Given the description of an element on the screen output the (x, y) to click on. 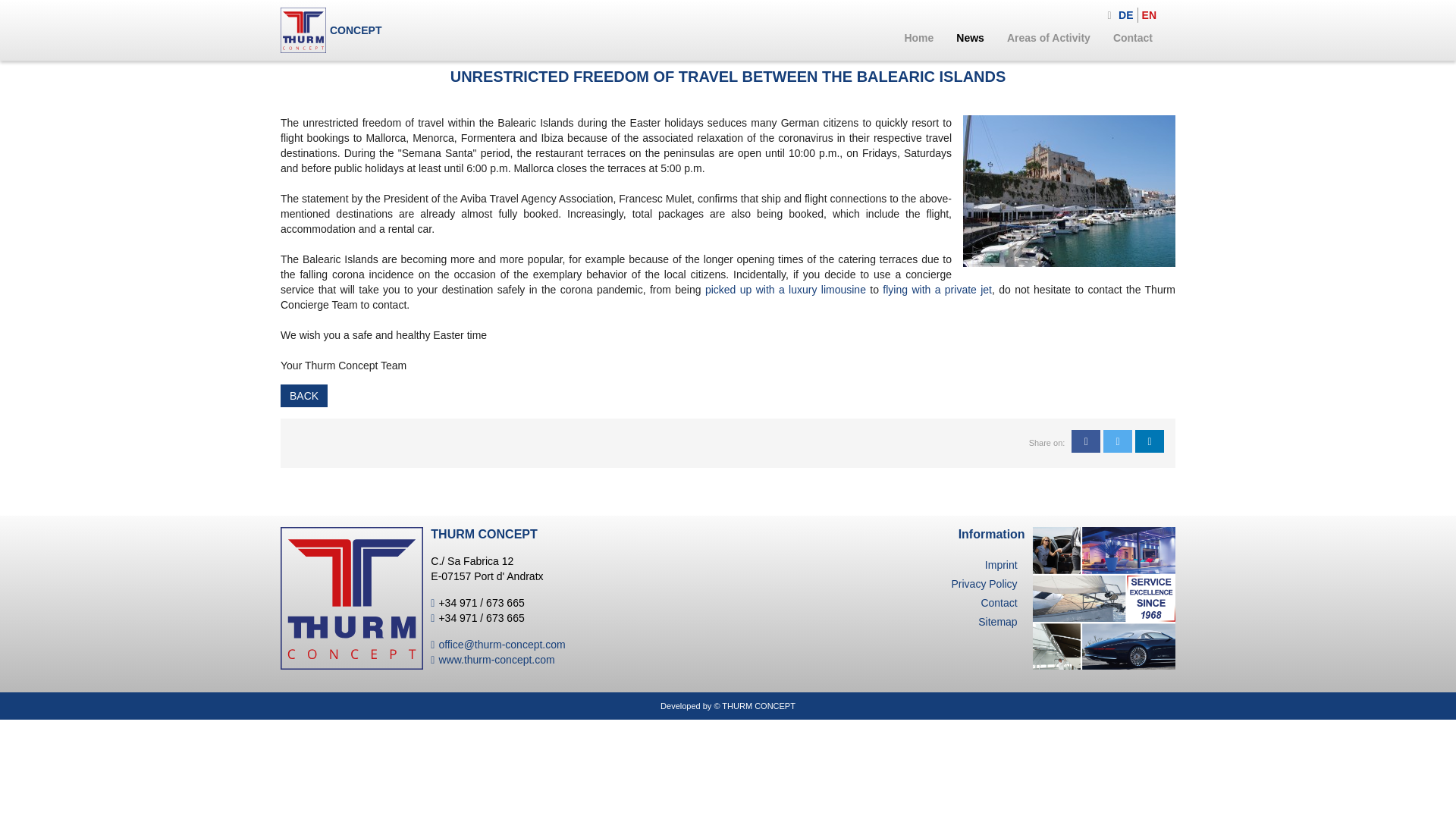
Linkedin (1149, 440)
News (969, 37)
Deutsch (1127, 14)
BACK (304, 395)
picked up with a luxury limousine (785, 289)
DE (1127, 14)
Twitter (1117, 440)
Privacy Policy (983, 583)
EN (1150, 14)
English (1150, 14)
